Given the description of an element on the screen output the (x, y) to click on. 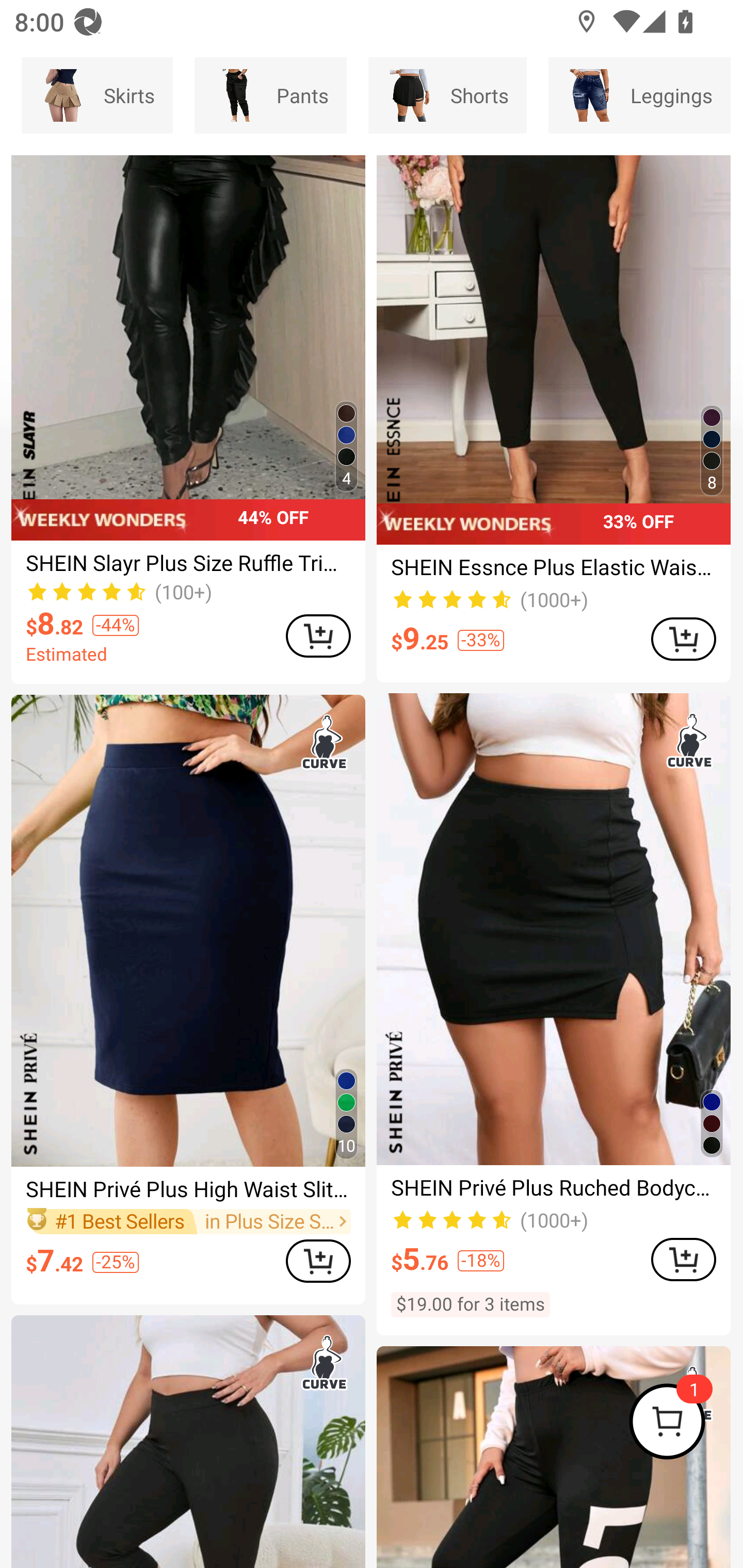
Skirts (97, 95)
Pants (270, 95)
Shorts (447, 95)
Leggings (639, 95)
ADD TO CART (318, 635)
ADD TO CART (683, 638)
#1 Best Sellers in Plus Size Skirts (188, 1221)
ADD TO CART (683, 1259)
ADD TO CART (318, 1260)
